Given the description of an element on the screen output the (x, y) to click on. 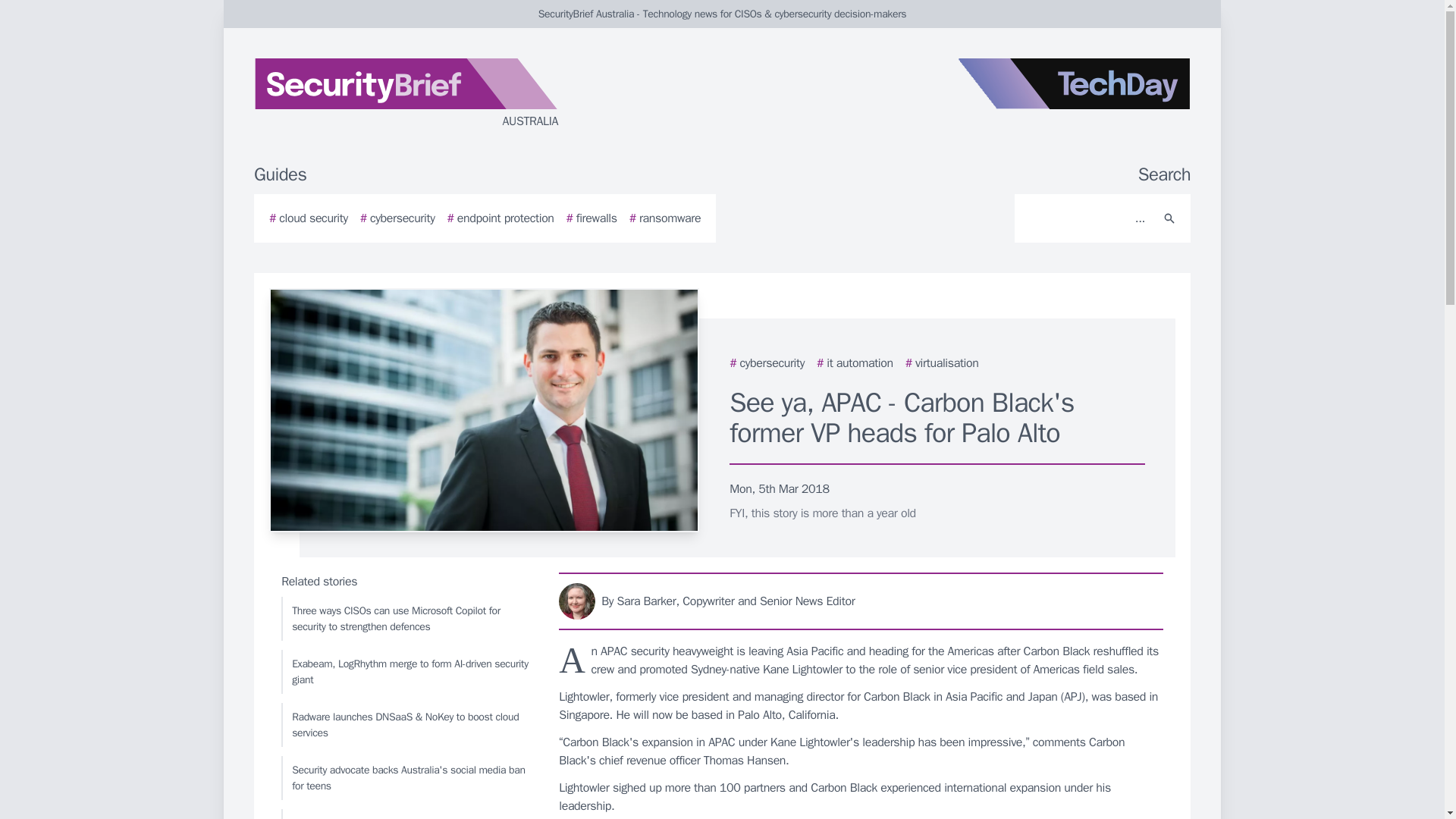
AUSTRALIA (435, 94)
Exabeam, LogRhythm merge to form AI-driven security giant (406, 671)
By Sara Barker, Copywriter and Senior News Editor (861, 601)
